Given the description of an element on the screen output the (x, y) to click on. 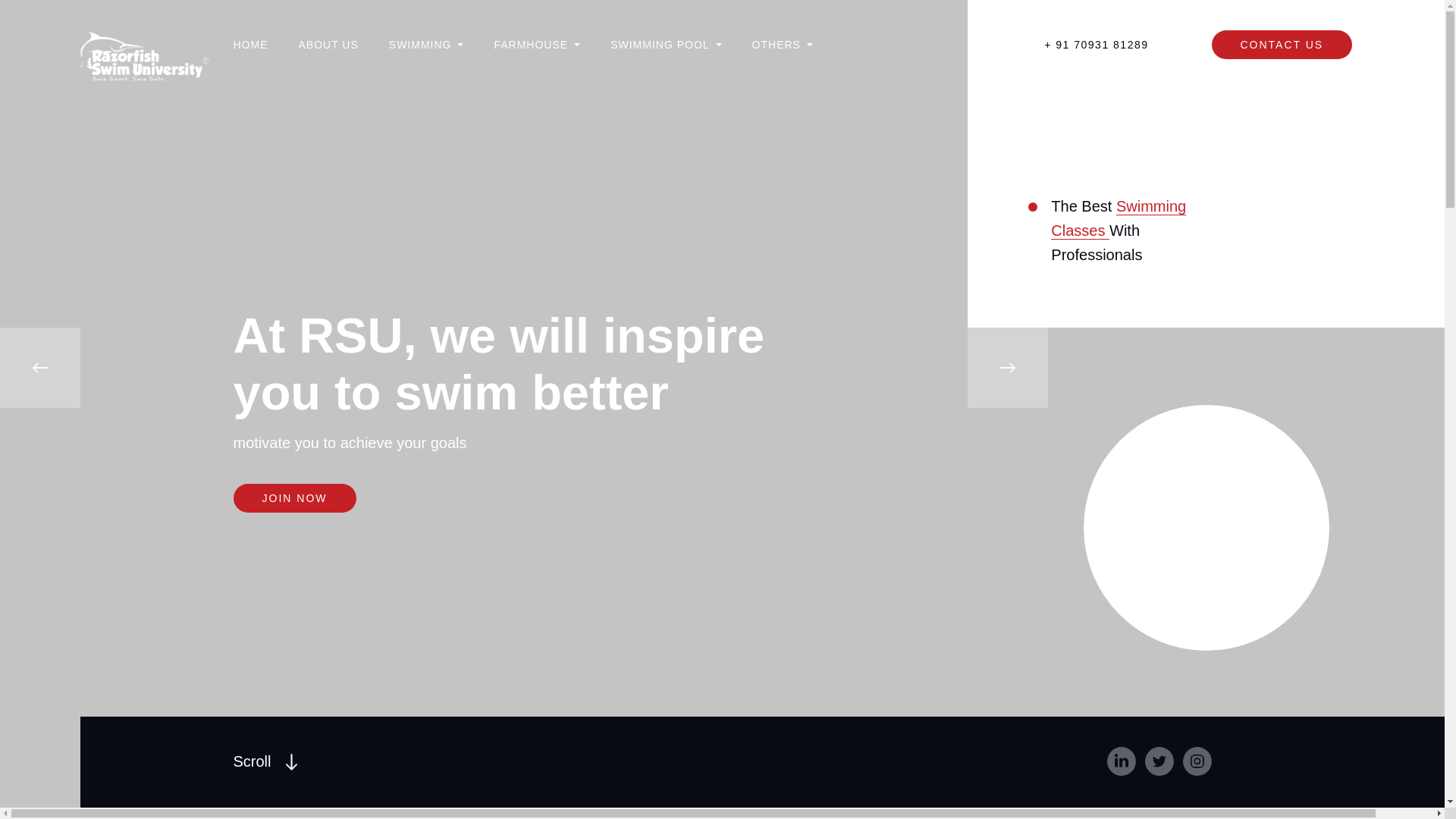
OTHERS (782, 44)
SWIMMING POOL (665, 44)
Scroll (264, 760)
FARMHOUSE (536, 44)
SWIMMING (1118, 218)
Scroll (426, 44)
JOIN NOW (264, 760)
HOME (294, 498)
